Given the description of an element on the screen output the (x, y) to click on. 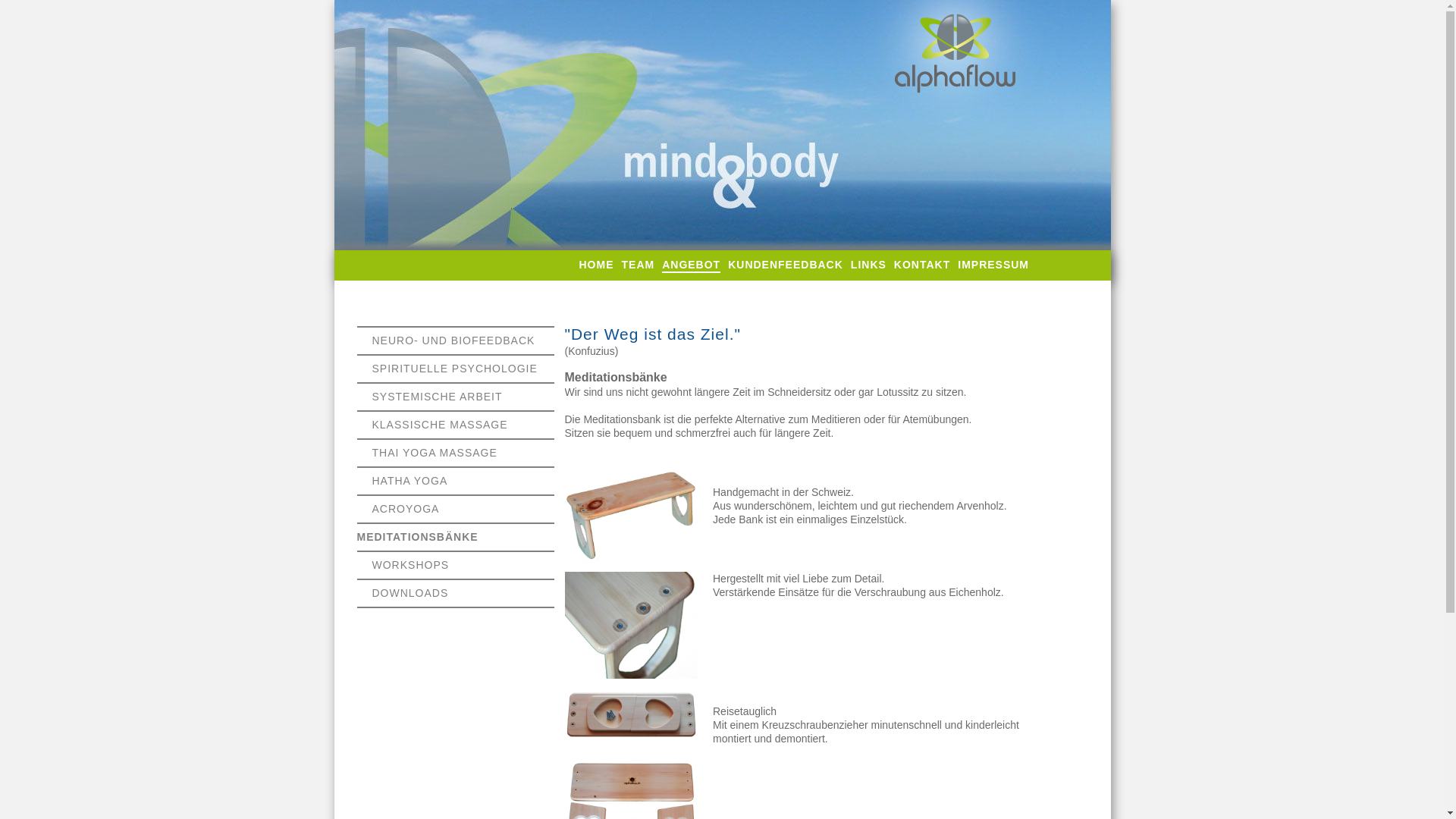
SYSTEMISCHE ARBEIT Element type: text (436, 396)
DOWNLOADS Element type: text (409, 592)
SPIRITUELLE PSYCHOLOGIE Element type: text (453, 368)
HOME Element type: text (596, 264)
IMPRESSUM Element type: text (993, 264)
ACROYOGA Element type: text (405, 508)
KLASSISCHE MASSAGE Element type: text (439, 424)
THAI YOGA MASSAGE Element type: text (433, 452)
HATHA YOGA Element type: text (409, 480)
ANGEBOT Element type: text (691, 265)
KONTAKT Element type: text (922, 264)
LINKS Element type: text (868, 264)
TEAM Element type: text (638, 264)
NEURO- UND BIOFEEDBACK Element type: text (452, 340)
KUNDENFEEDBACK Element type: text (785, 264)
WORKSHOPS Element type: text (409, 564)
